Given the description of an element on the screen output the (x, y) to click on. 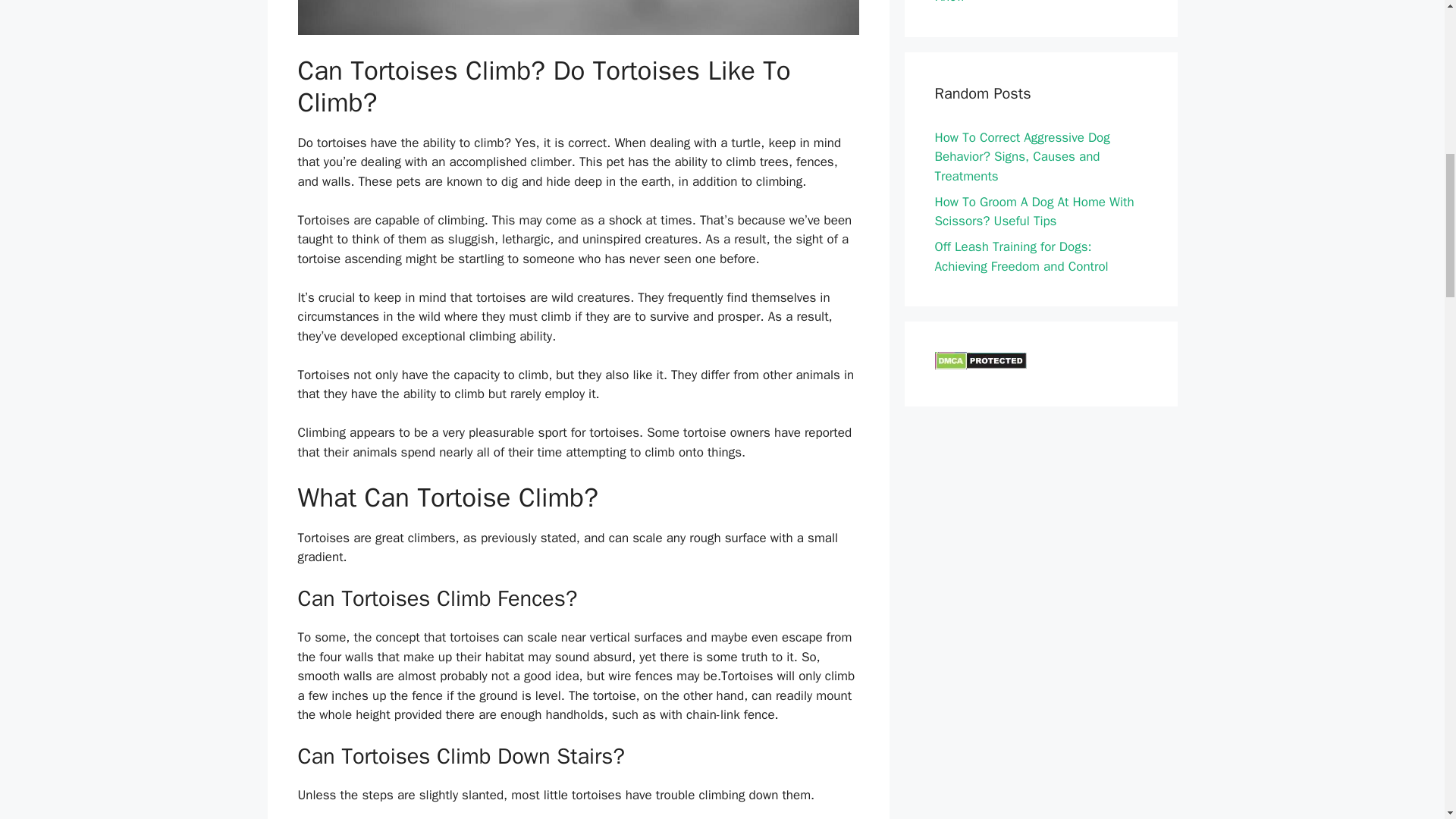
Scroll back to top (1406, 720)
How To Groom A Dog At Home With Scissors? Useful Tips (1034, 212)
DMCA.com Protection Status (980, 365)
Off Leash Training for Dogs: Achieving Freedom and Control (1021, 256)
